Given the description of an element on the screen output the (x, y) to click on. 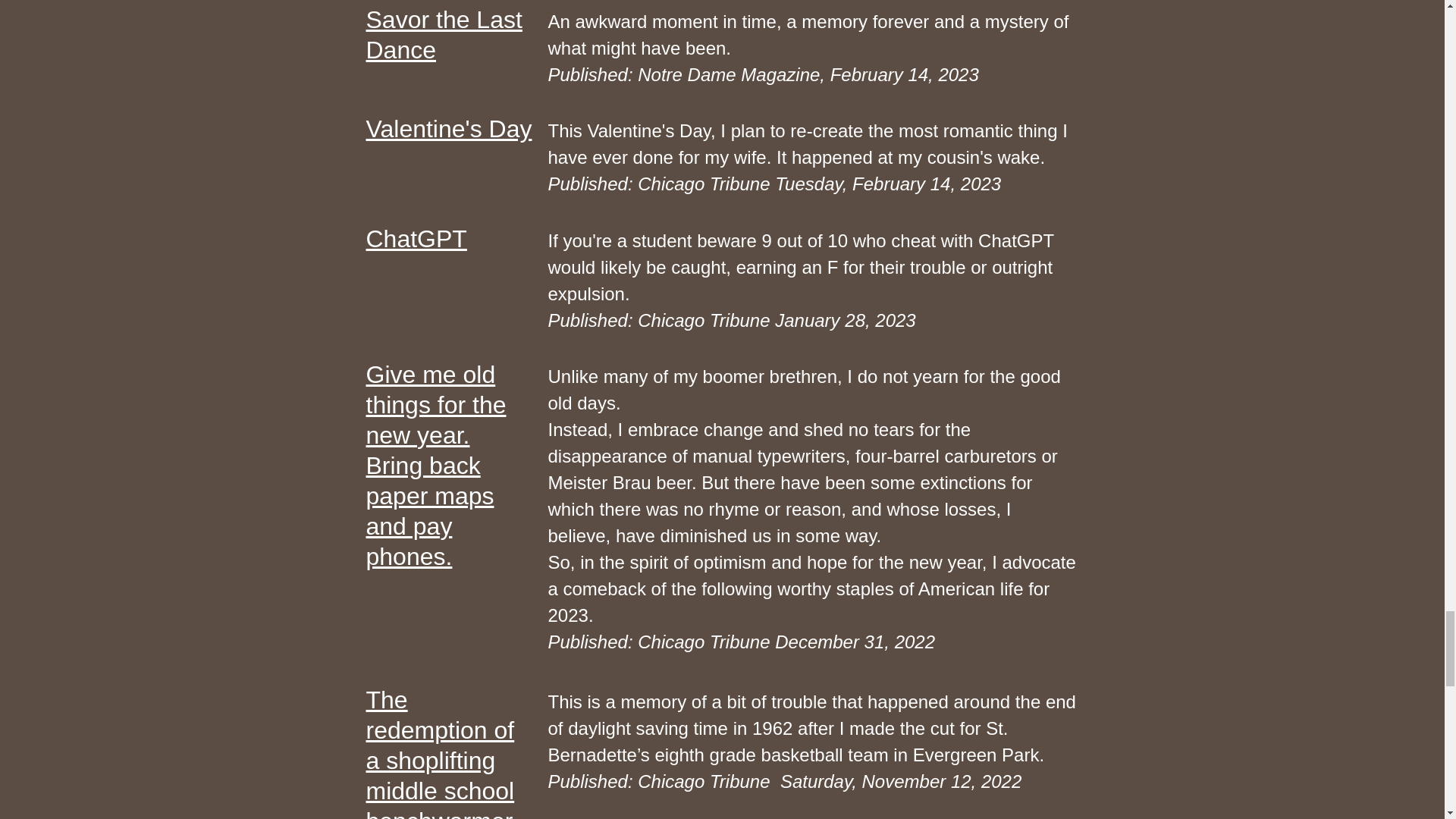
Savor the Last Dance (443, 34)
Valentine's Day (448, 128)
ChatGPT (415, 237)
